Given the description of an element on the screen output the (x, y) to click on. 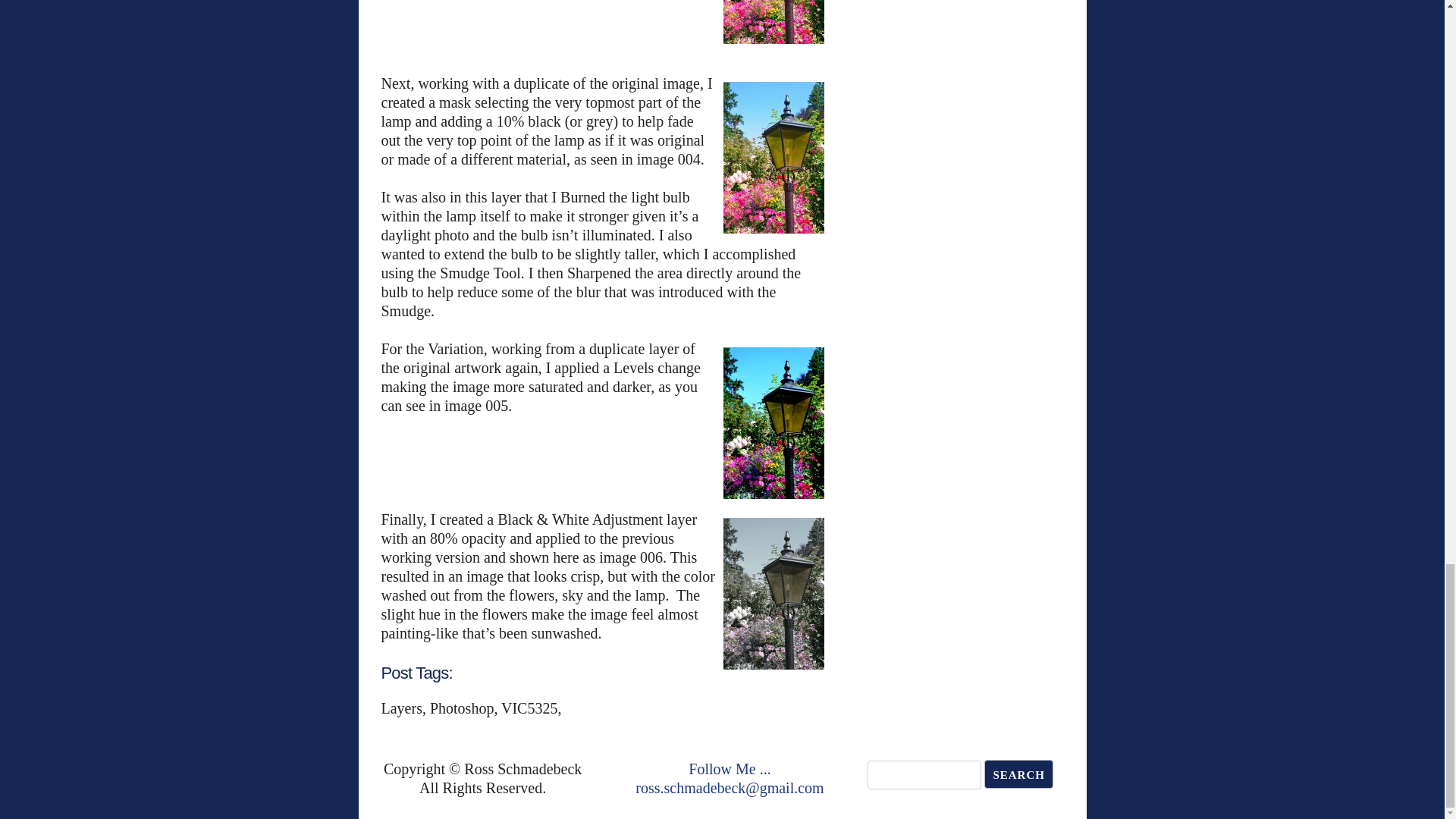
Search (1018, 774)
Search (1018, 774)
Follow Me ... (729, 768)
